Given the description of an element on the screen output the (x, y) to click on. 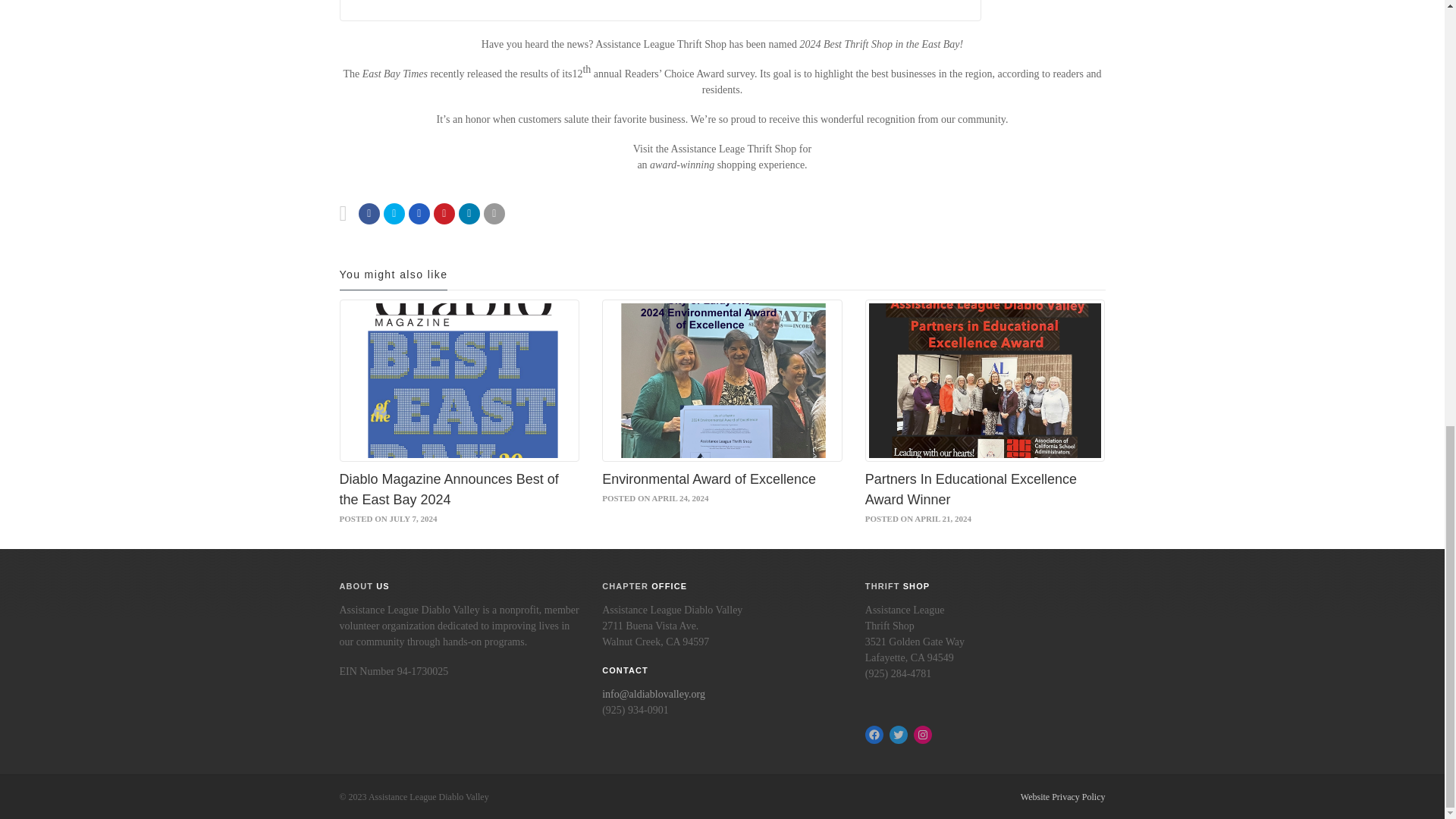
Share on Facebook (369, 212)
Email (469, 212)
Email (494, 212)
Submit to Reddit (443, 212)
Tweet (394, 212)
